Given the description of an element on the screen output the (x, y) to click on. 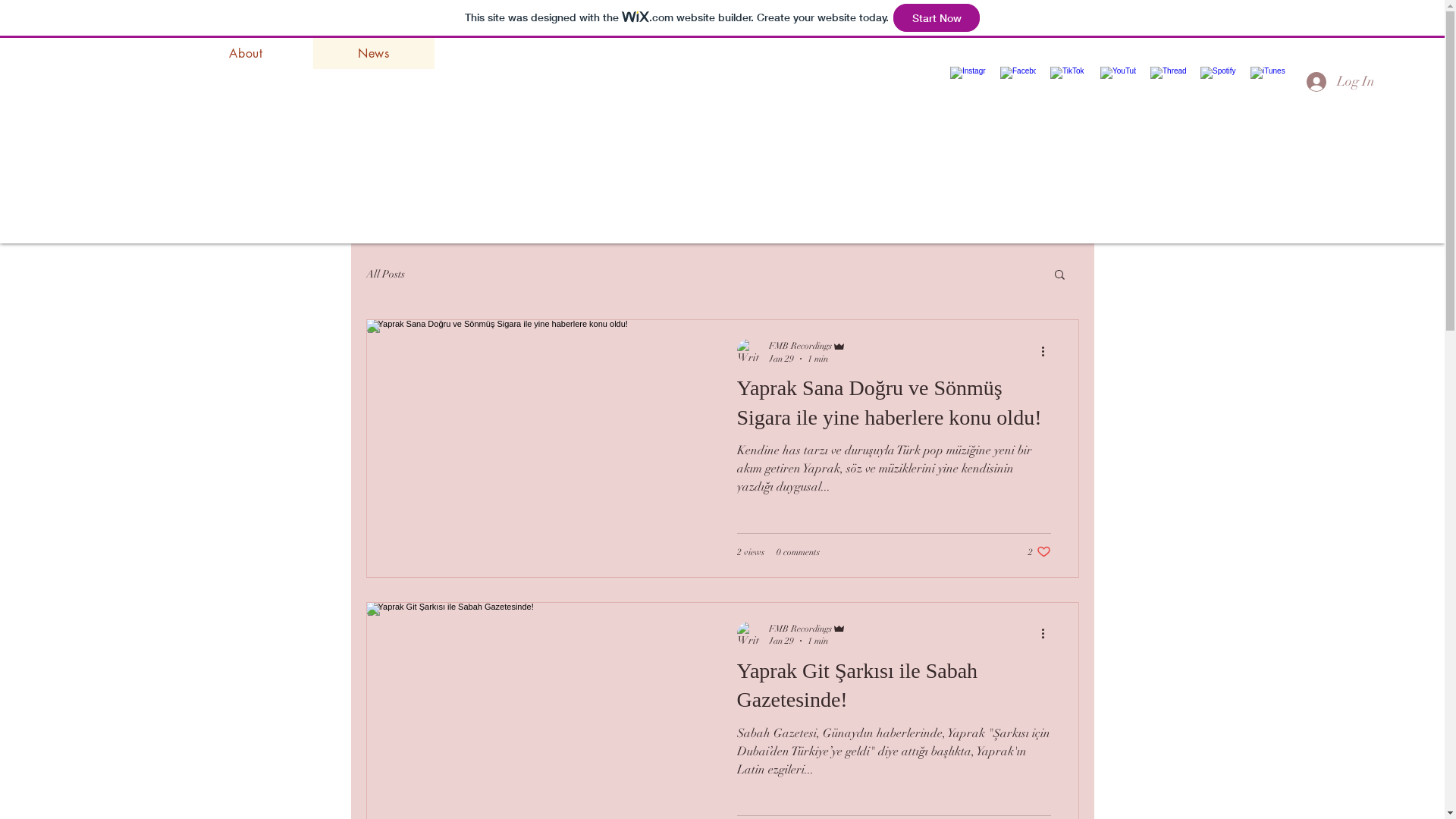
All Posts Element type: text (384, 272)
FMB Recordings Element type: text (807, 628)
0 comments Element type: text (797, 551)
FMB Recordings Element type: text (807, 345)
Log In Element type: text (1340, 81)
News Element type: text (373, 53)
About Element type: text (246, 53)
2 likes. Post not marked as liked
2 Element type: text (1039, 551)
